Given the description of an element on the screen output the (x, y) to click on. 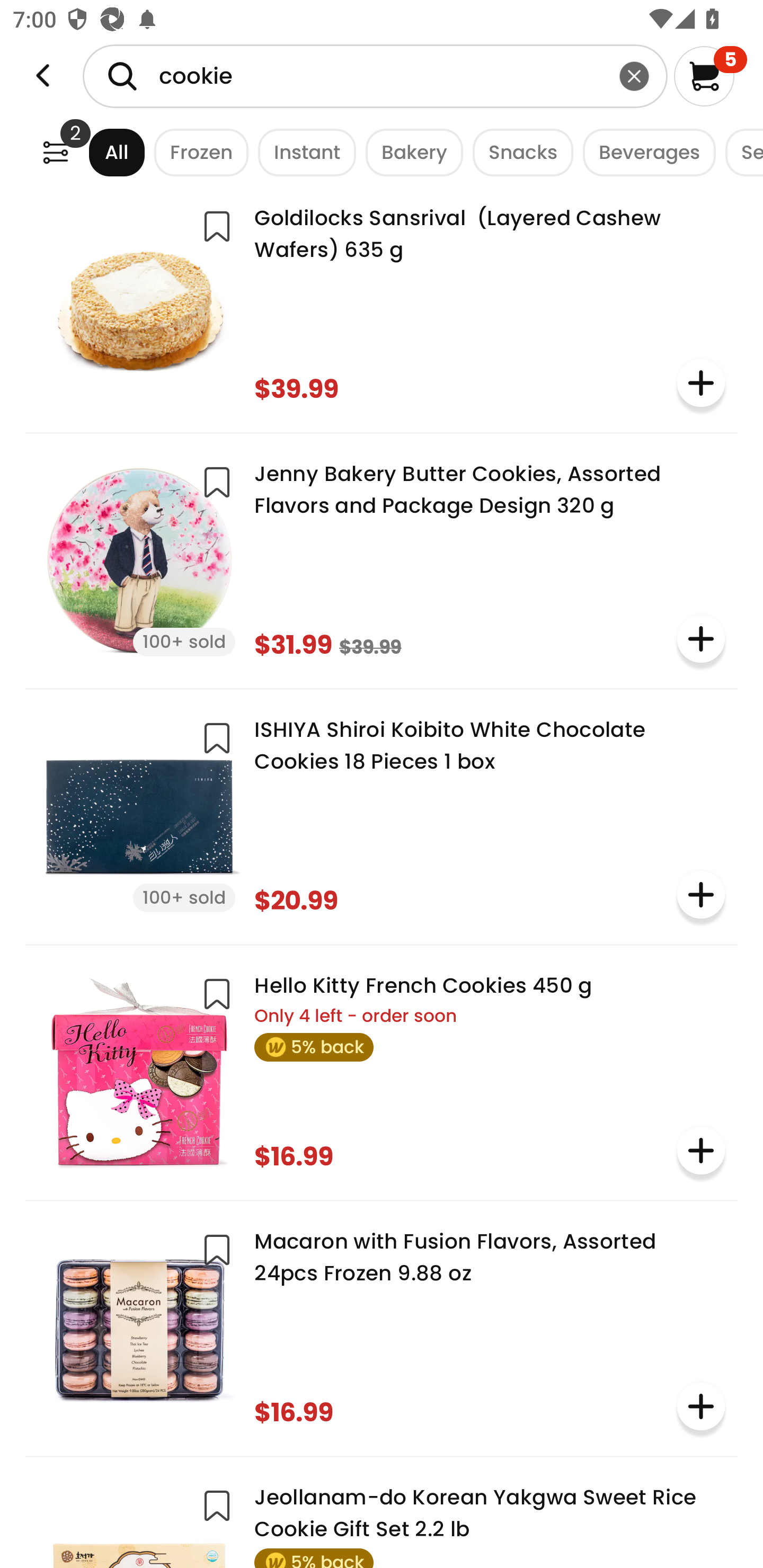
cookie (374, 75)
5 (709, 75)
Weee! (42, 76)
Weee! (55, 151)
All (99, 151)
Frozen (196, 151)
Instant (302, 151)
Bakery (409, 151)
Snacks (518, 151)
Beverages (644, 151)
